Given the description of an element on the screen output the (x, y) to click on. 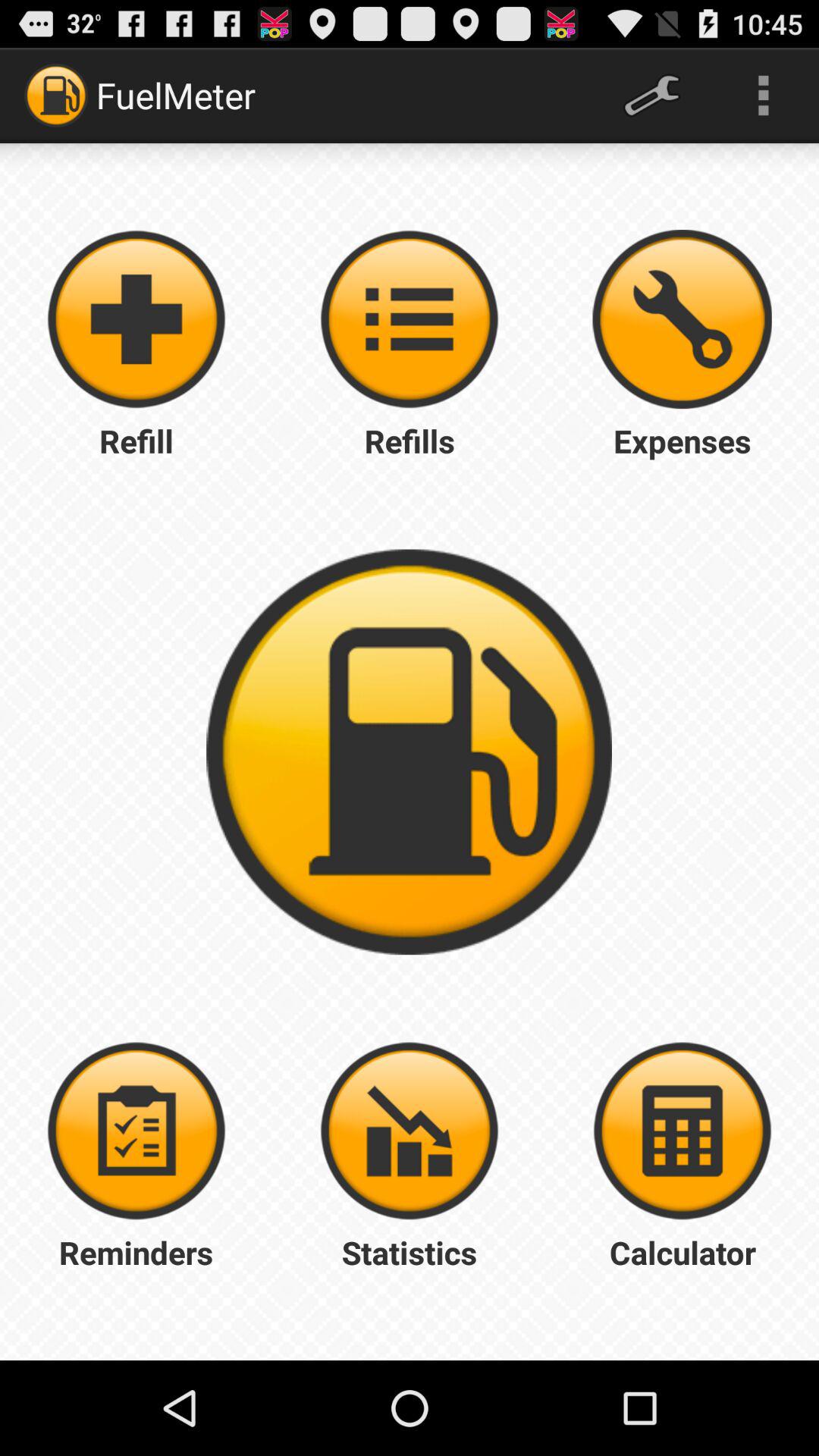
auto repair expenses (682, 318)
